Given the description of an element on the screen output the (x, y) to click on. 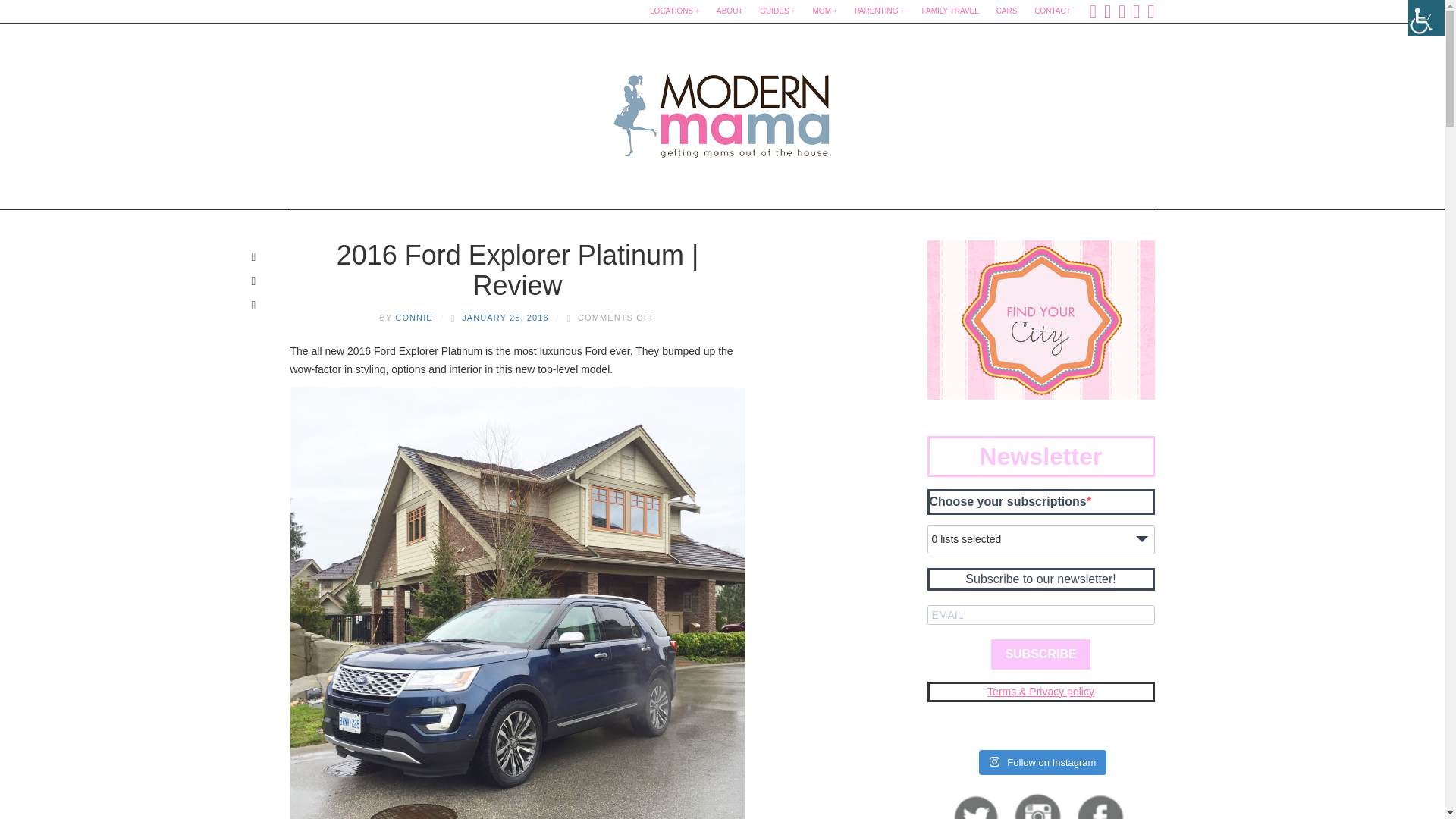
CARS (1006, 11)
11:11 am (504, 317)
Modern Mama (722, 111)
LOCATIONS (674, 11)
GUIDES (777, 11)
MOM (825, 11)
FAMILY TRAVEL (949, 11)
CONTACT (1052, 11)
Pinterest (1136, 10)
RSS Feed (1150, 10)
Twitter (1106, 10)
Instagram (1121, 10)
CONNIE (413, 317)
Share on Facebook (253, 256)
ABOUT (729, 11)
